Given the description of an element on the screen output the (x, y) to click on. 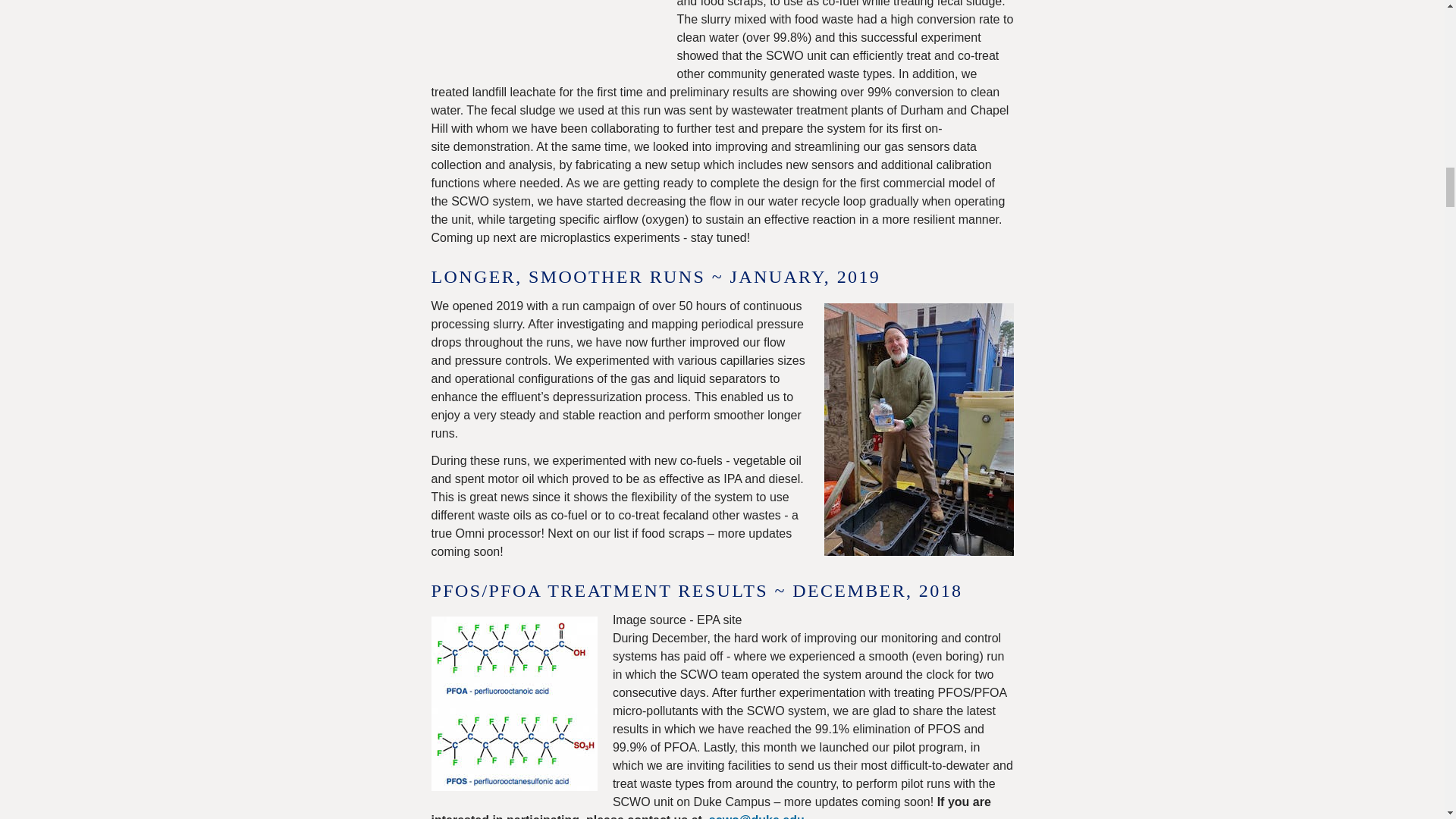
Image source - EPA site (513, 703)
